Given the description of an element on the screen output the (x, y) to click on. 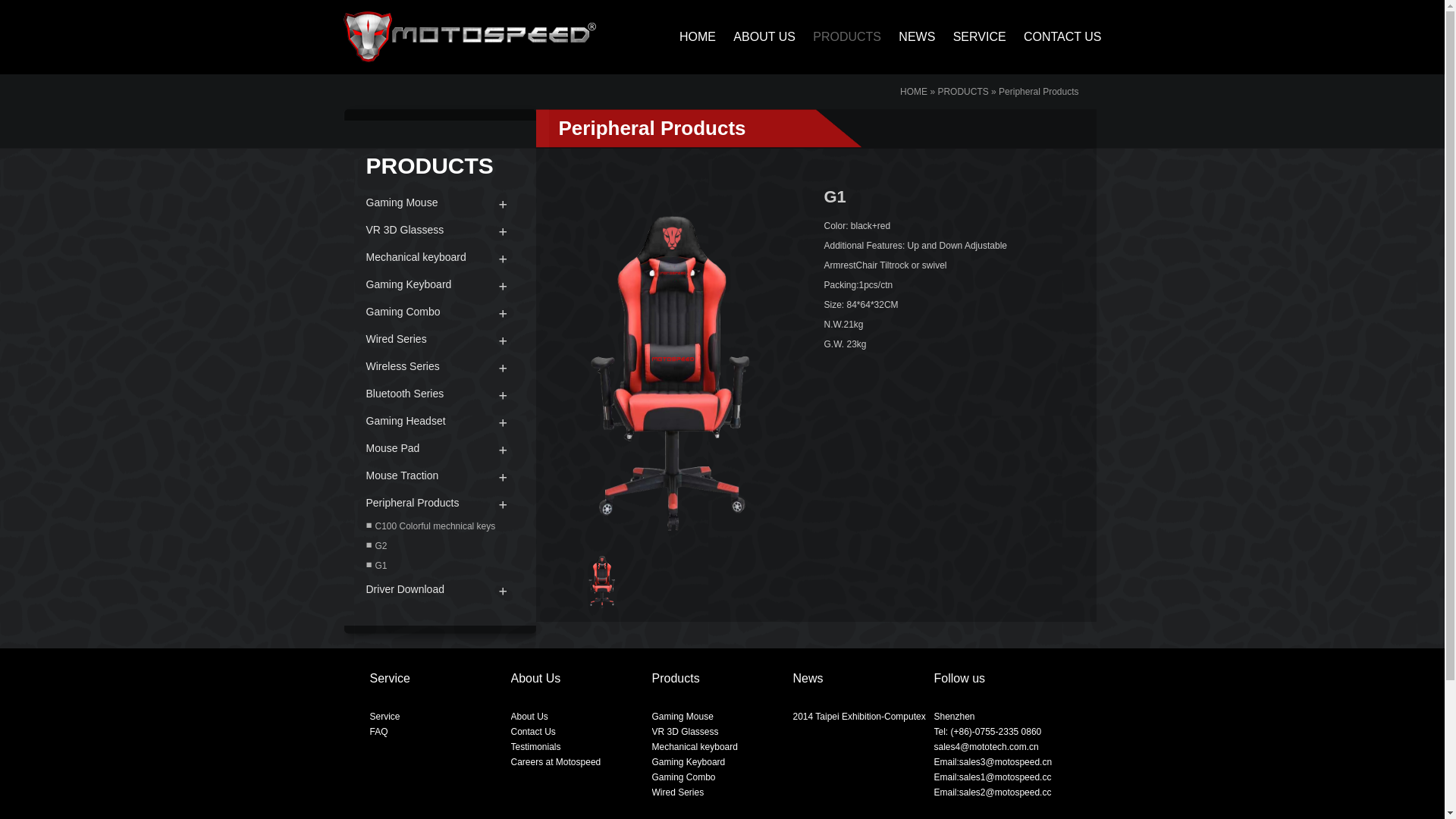
FAQ Element type: text (379, 731)
VR 3D Glassess Element type: text (438, 229)
Gaming Keyboard Element type: text (688, 761)
Gaming Combo Element type: text (438, 311)
Mechanical keyboard Element type: text (694, 746)
VR 3D Glassess Element type: text (685, 731)
Mouse Traction Element type: text (438, 475)
Service Element type: text (385, 716)
Wired Series Element type: text (678, 792)
SERVICE Element type: text (972, 36)
Wired Series Element type: text (438, 338)
Testimonials Element type: text (536, 746)
ABOUT US Element type: text (756, 36)
Gaming Mouse Element type: text (438, 202)
Mechanical keyboard Element type: text (438, 256)
CONTACT US Element type: text (1054, 36)
motospeed Element type: text (468, 36)
PRODUCTS Element type: text (962, 91)
G1 Element type: text (438, 565)
Contact Us Element type: text (533, 731)
G2 Element type: text (438, 545)
Wireless Series Element type: text (438, 365)
Bluetooth Series Element type: text (438, 393)
Gaming Headset Element type: text (438, 420)
NEWS Element type: text (909, 36)
PRODUCTS Element type: text (839, 36)
Gaming Combo Element type: text (683, 776)
HOME Element type: text (913, 91)
Peripheral Products Element type: text (1038, 91)
Gaming Mouse Element type: text (682, 716)
Careers at Motospeed Element type: text (556, 761)
2014 Taipei Exhibition-Computex Element type: text (859, 716)
C100 Colorful mechnical keys Element type: text (438, 526)
Driver Download Element type: text (438, 588)
Peripheral Products Element type: text (438, 502)
Mouse Pad Element type: text (438, 447)
HOME Element type: text (689, 36)
Gaming Keyboard Element type: text (438, 284)
About Us Element type: text (529, 716)
